Given the description of an element on the screen output the (x, y) to click on. 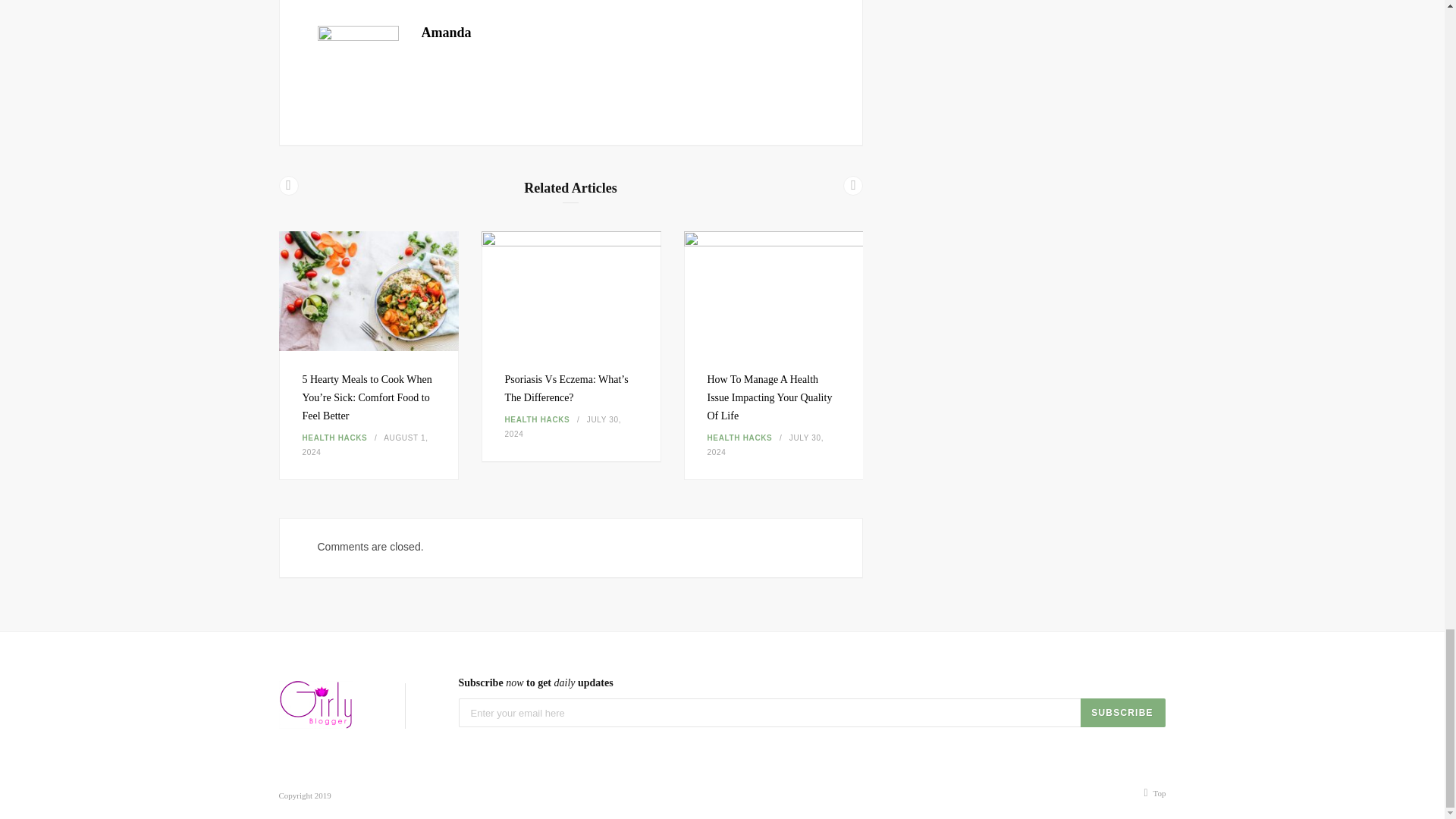
Amanda (446, 32)
HEALTH HACKS (537, 419)
HEALTH HACKS (333, 438)
Subscribe (1123, 712)
Posts by Amanda (446, 32)
